Given the description of an element on the screen output the (x, y) to click on. 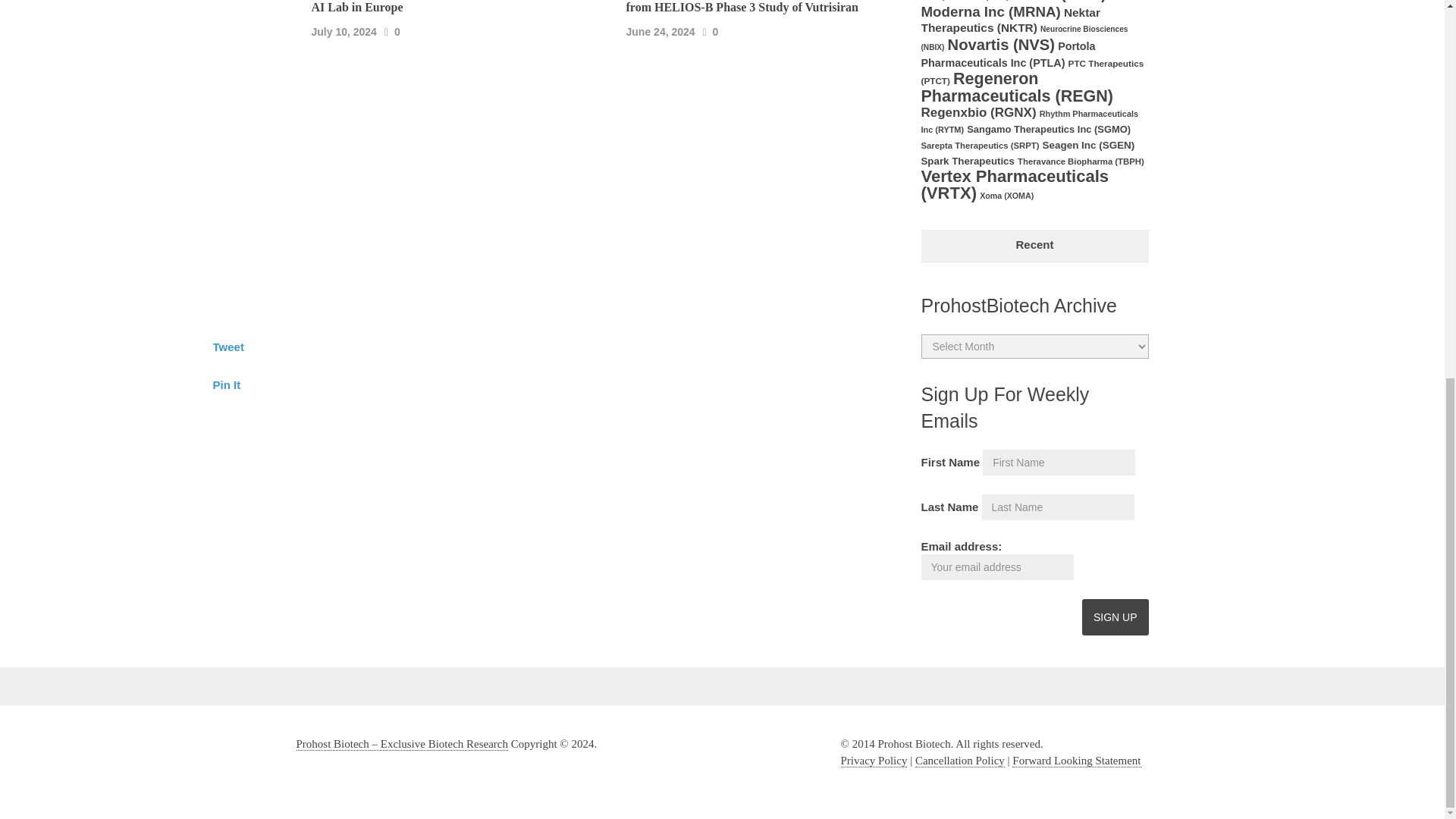
A Comprehensive Resource for Biotech News (401, 744)
Sign up (1114, 616)
